Given the description of an element on the screen output the (x, y) to click on. 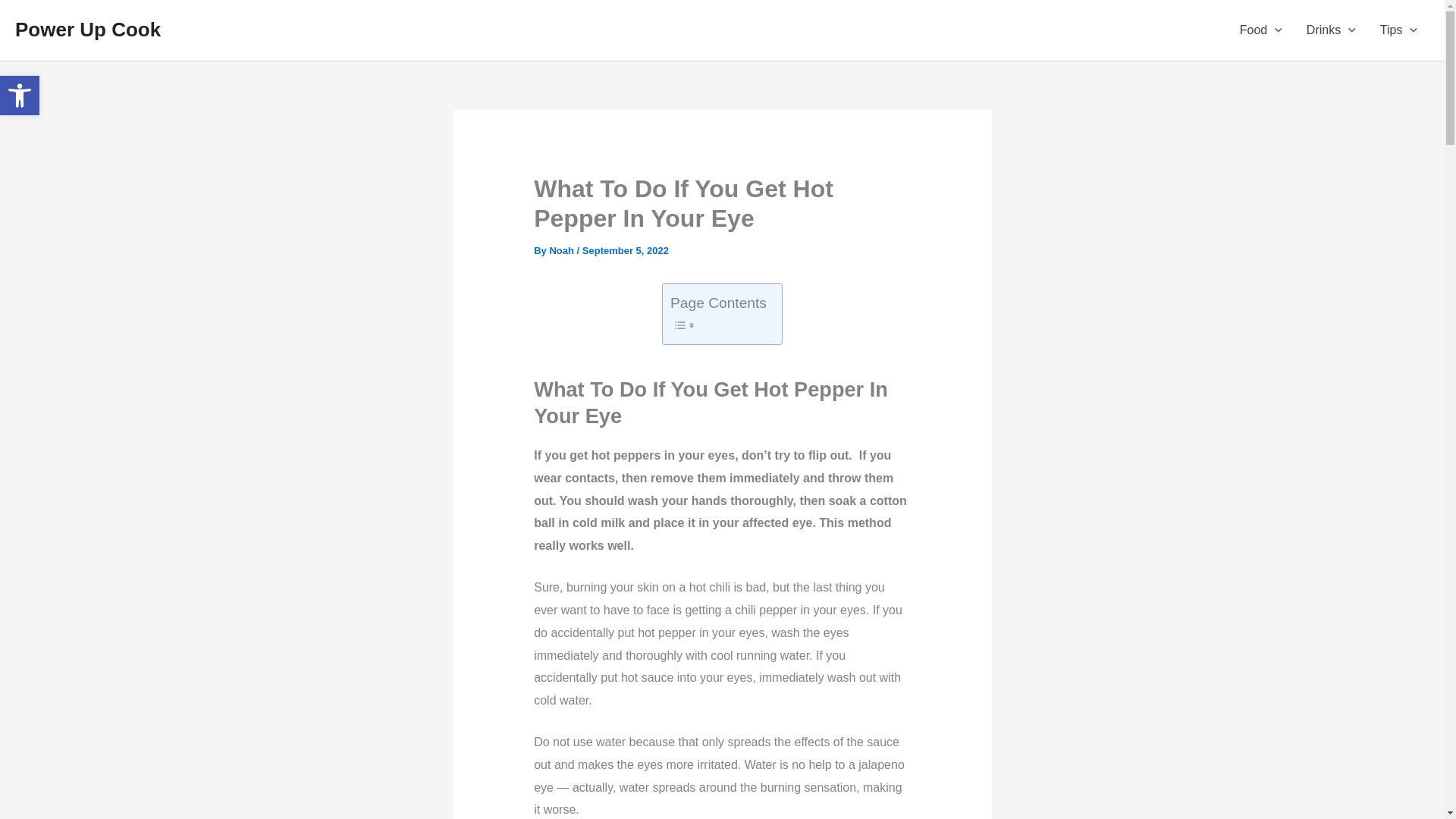
View all posts by Noah (562, 250)
Drinks (1331, 30)
Food (1260, 30)
Power Up Cook (87, 29)
Tips (1398, 30)
Accessibility Tools (19, 95)
Accessibility Tools (19, 95)
